Given the description of an element on the screen output the (x, y) to click on. 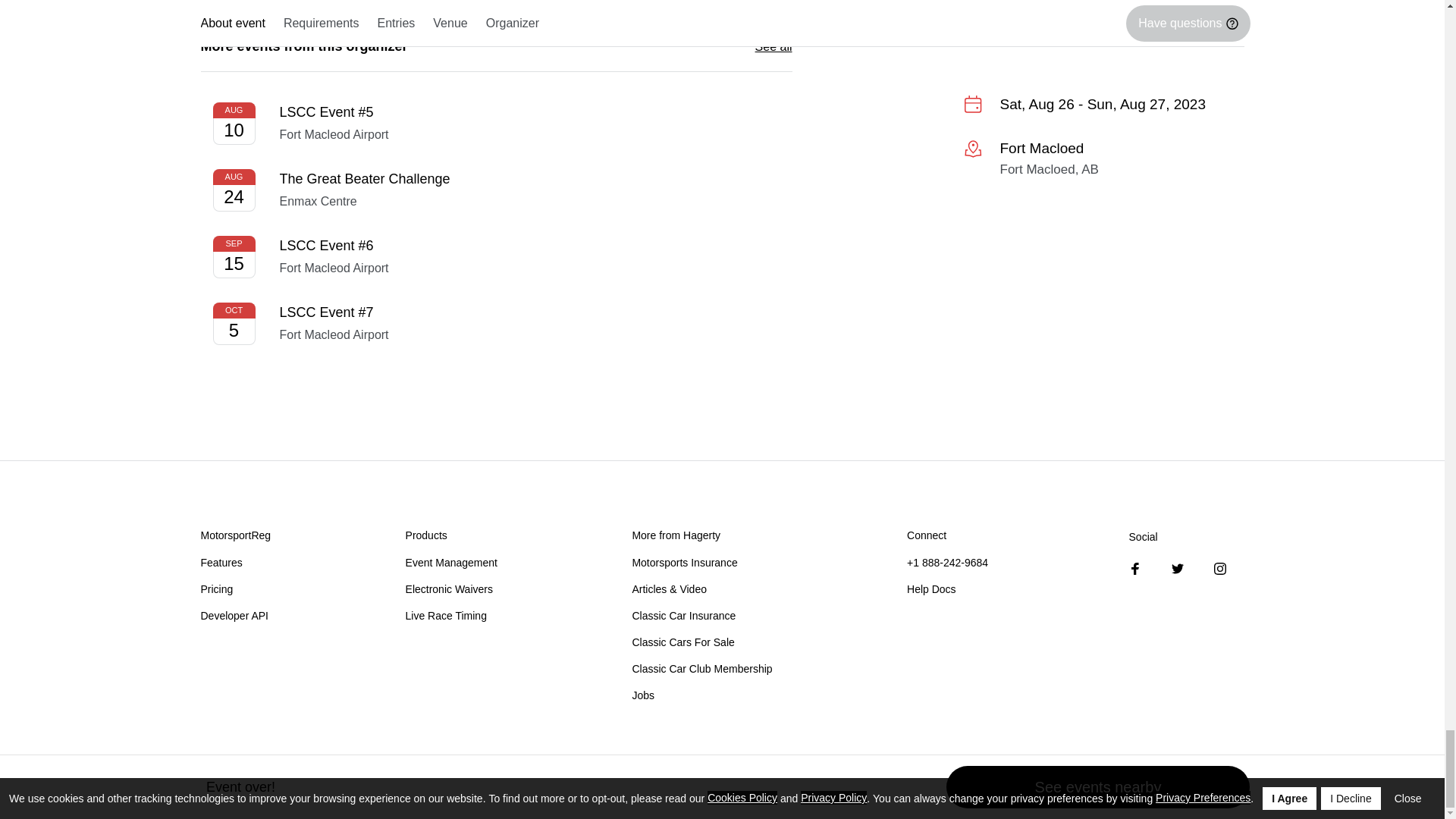
Facebook (1135, 568)
Instagram (1219, 568)
Twitter (1177, 568)
